Given the description of an element on the screen output the (x, y) to click on. 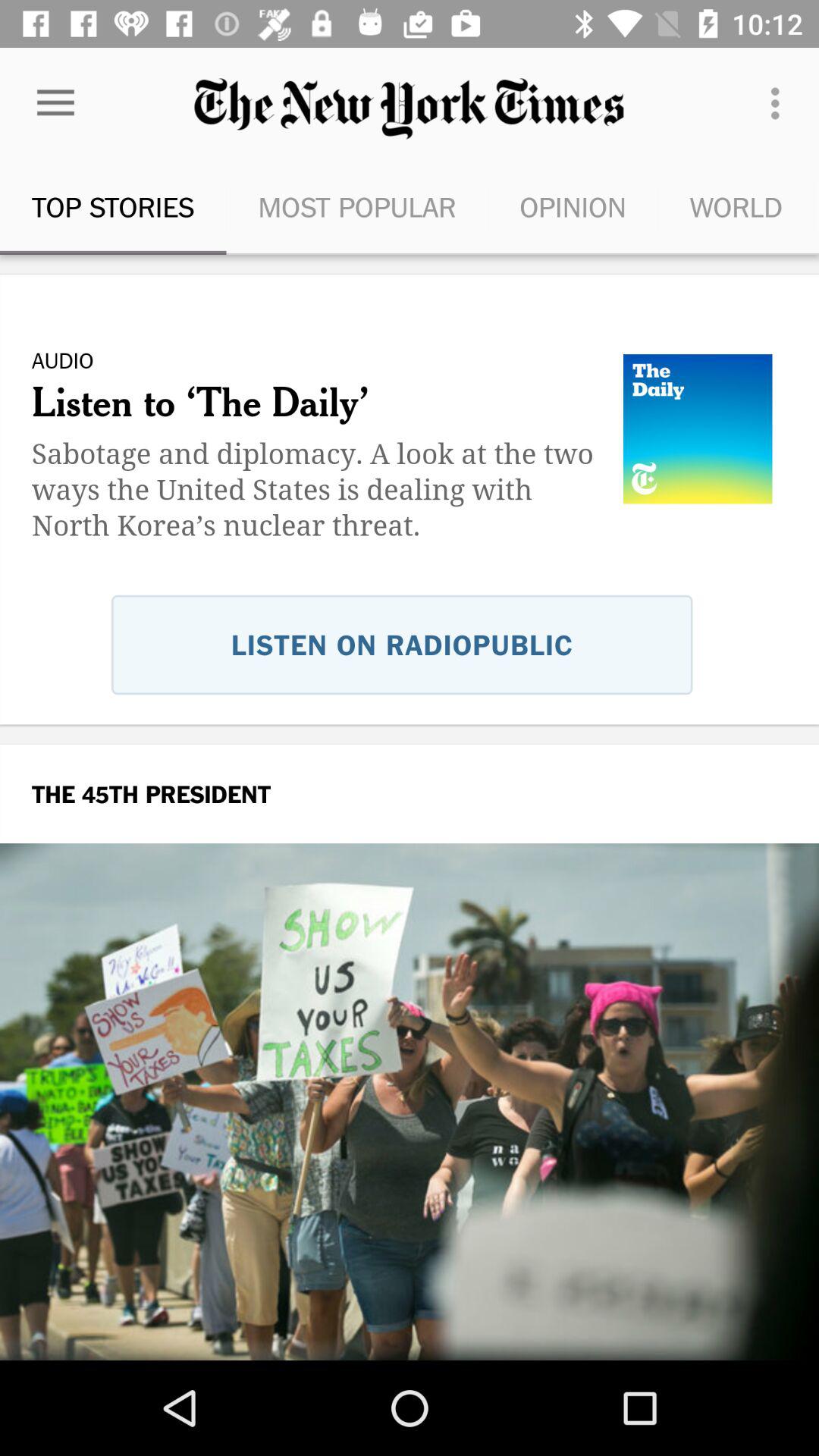
open audio (409, 535)
